Given the description of an element on the screen output the (x, y) to click on. 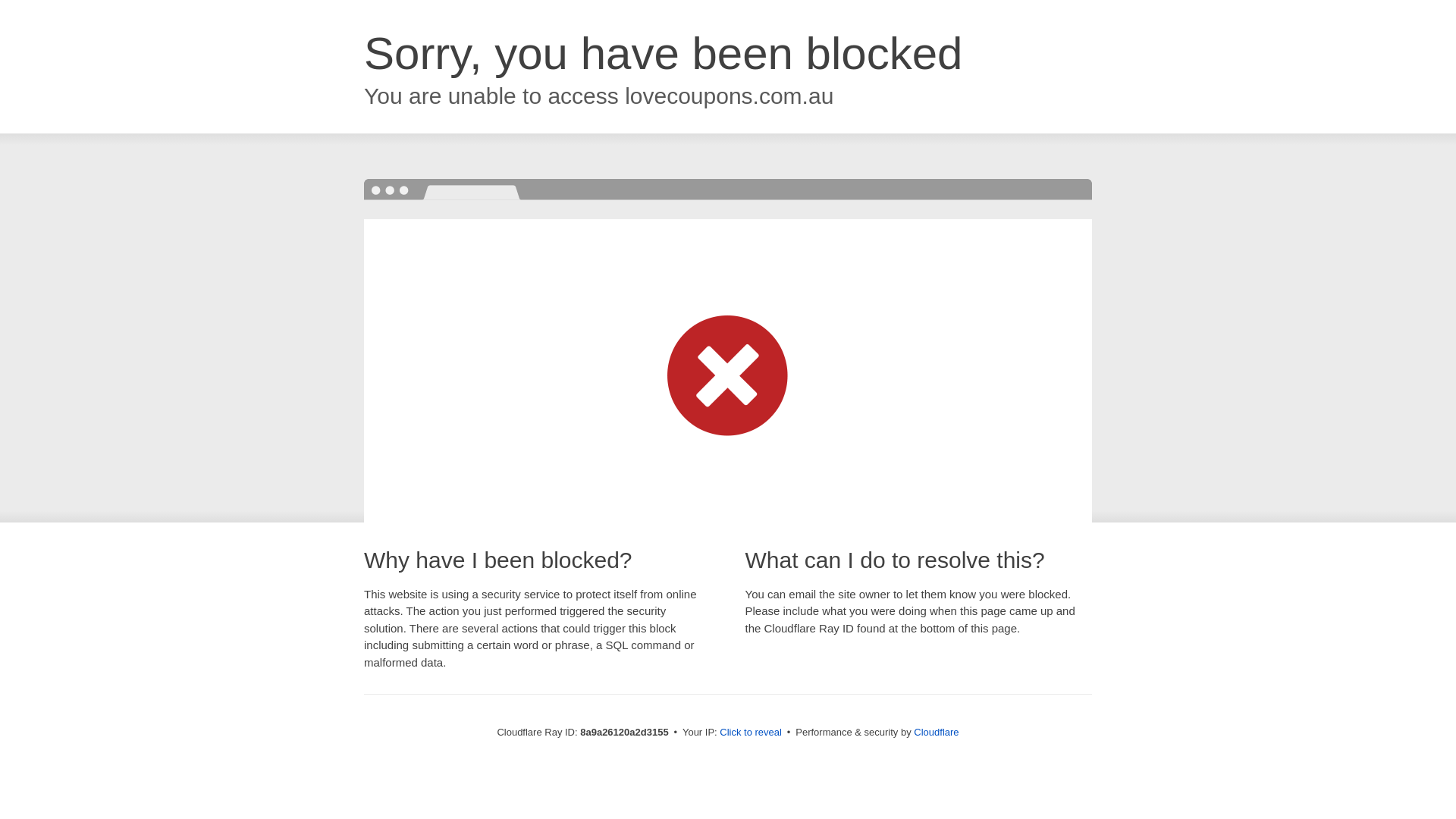
Cloudflare (936, 731)
Click to reveal (750, 732)
